Given the description of an element on the screen output the (x, y) to click on. 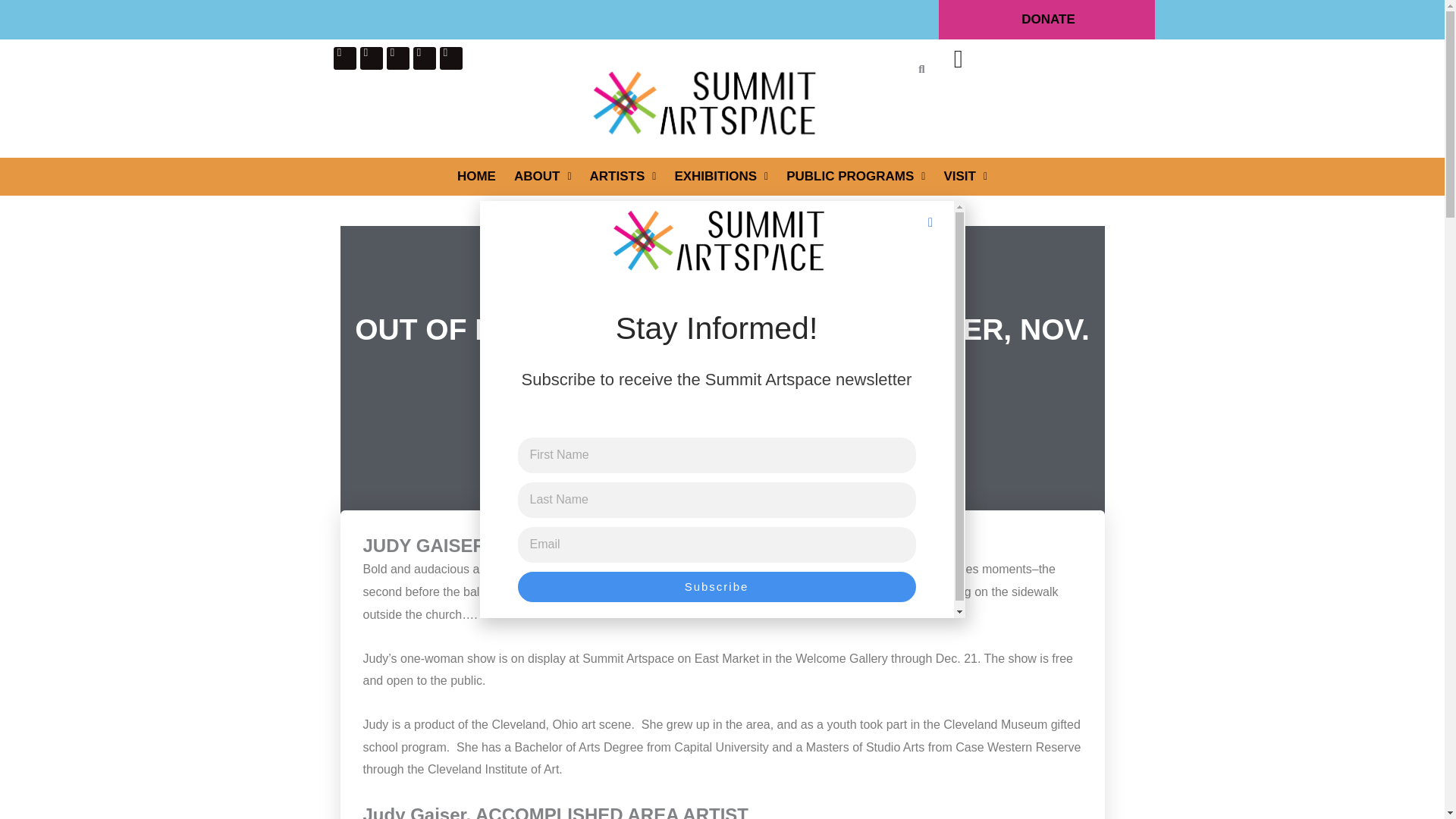
SA logo without tagline hi res-01-01 (702, 102)
Search (914, 66)
